Given the description of an element on the screen output the (x, y) to click on. 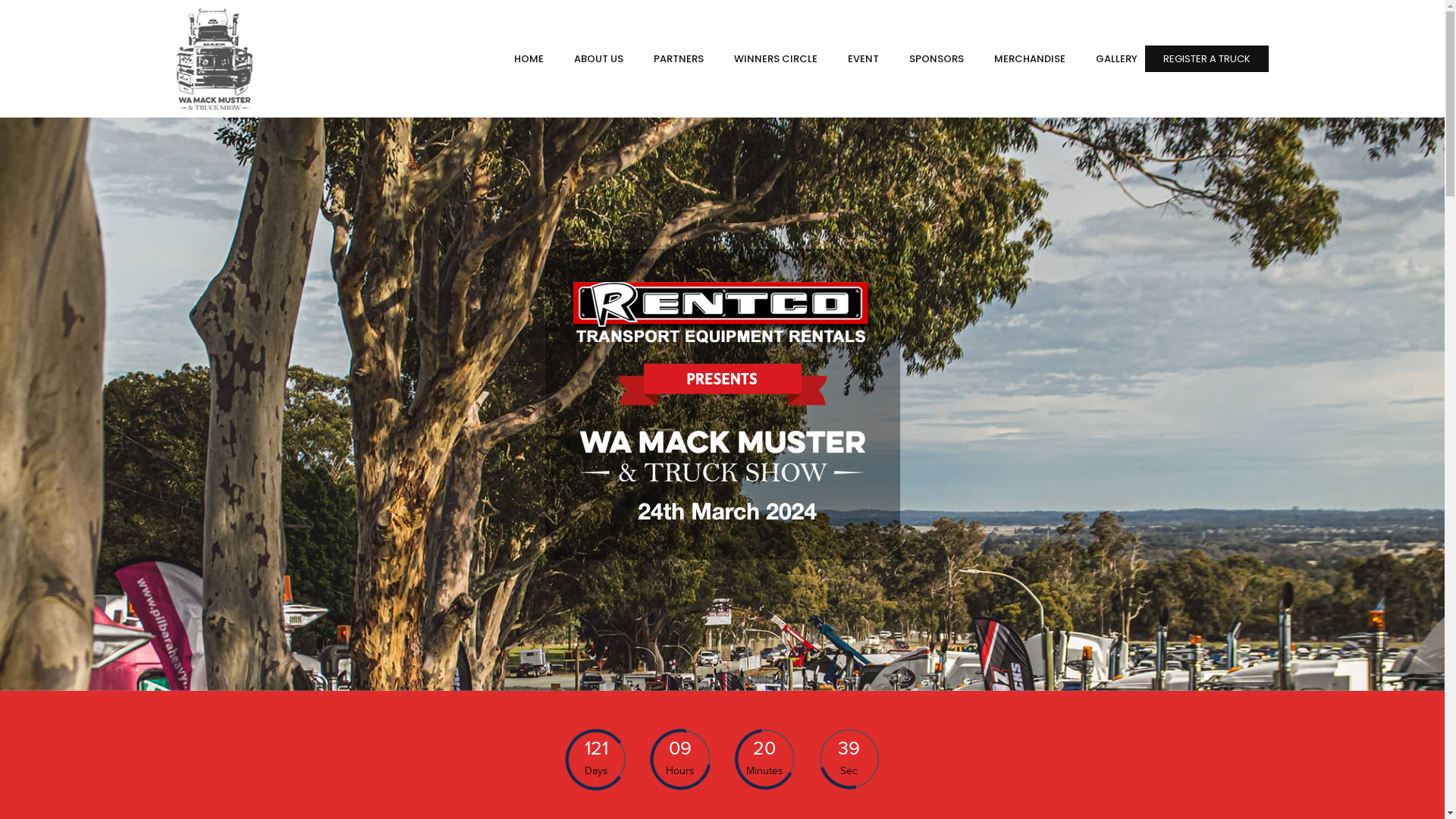
MERCHANDISE Element type: text (1021, 58)
ABOUT US Element type: text (590, 58)
GALLERY Element type: text (1108, 58)
WINNERS CIRCLE Element type: text (768, 58)
EVENT Element type: text (855, 58)
PARTNERS Element type: text (670, 58)
SPONSORS Element type: text (927, 58)
HOME Element type: text (521, 58)
REGISTER A TRUCK Element type: text (1206, 58)
